Given the description of an element on the screen output the (x, y) to click on. 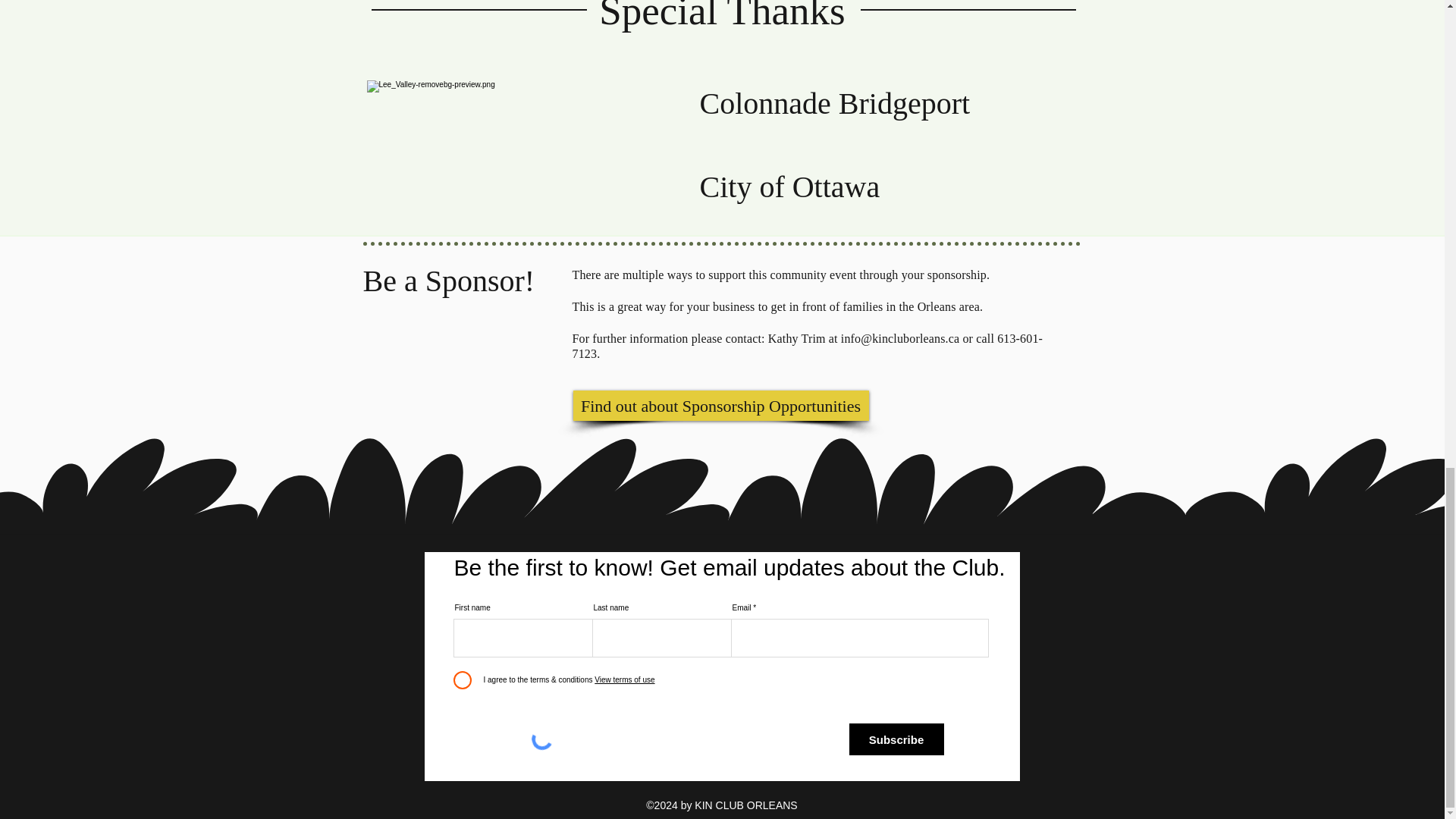
View terms of use (622, 679)
Find out about Sponsorship Opportunities (721, 405)
Subscribe (895, 739)
